Given the description of an element on the screen output the (x, y) to click on. 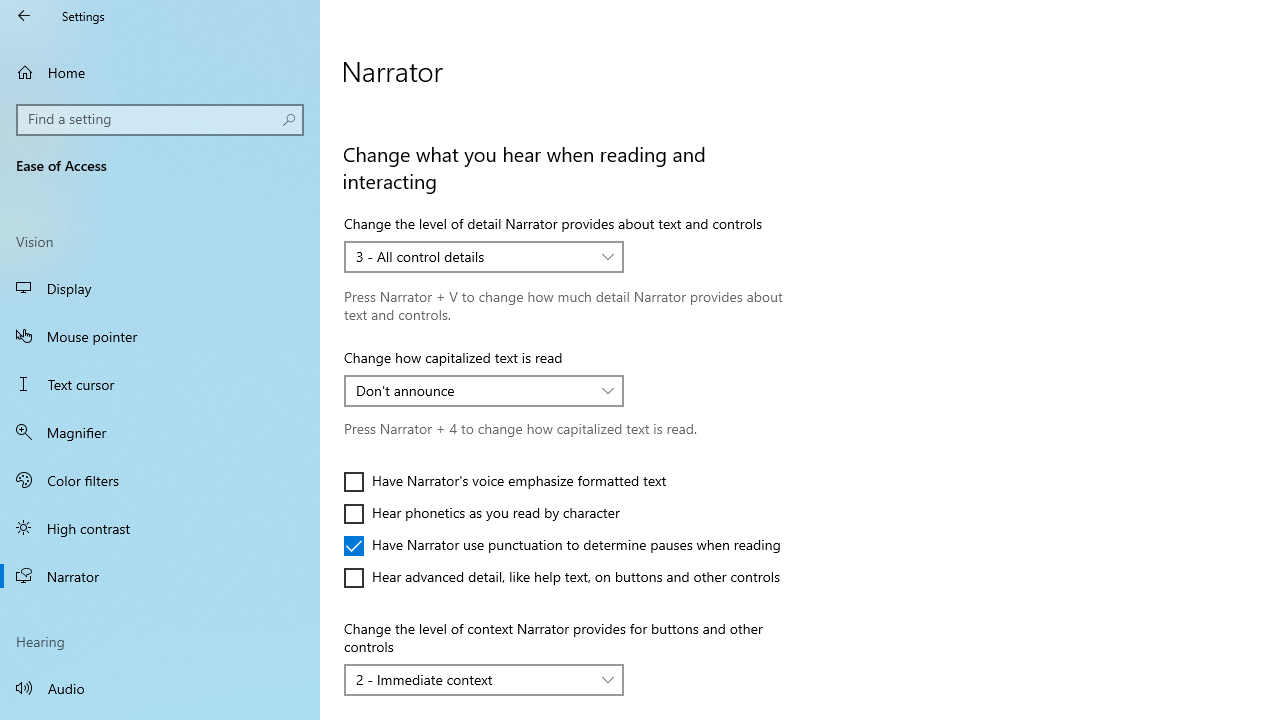
Default Audio Device (423, 75)
3 - All control details (473, 255)
Home (160, 71)
Select where you hear Narrator's voice (433, 76)
Narrator (160, 575)
Audio (160, 687)
High contrast (160, 527)
